Given the description of an element on the screen output the (x, y) to click on. 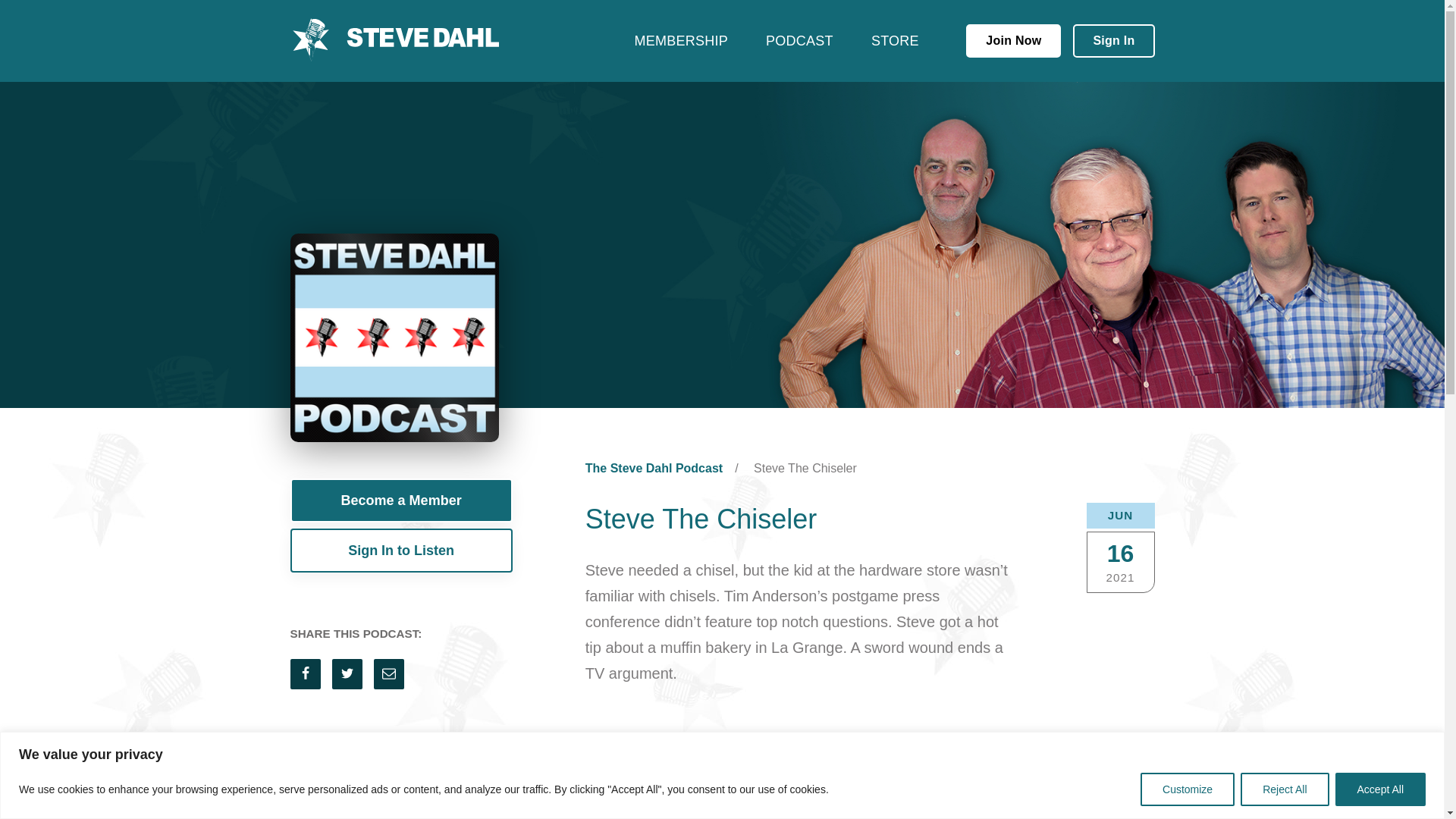
Join Now (1013, 40)
MEMBERSHIP (681, 40)
PODCAST (798, 40)
STORE (894, 40)
Sign In to Listen (400, 550)
Become a Member (400, 500)
Reject All (1283, 788)
The Steve Dahl Podcast (653, 467)
Customize (1187, 788)
Sign In (1113, 40)
Accept All (1380, 788)
